Given the description of an element on the screen output the (x, y) to click on. 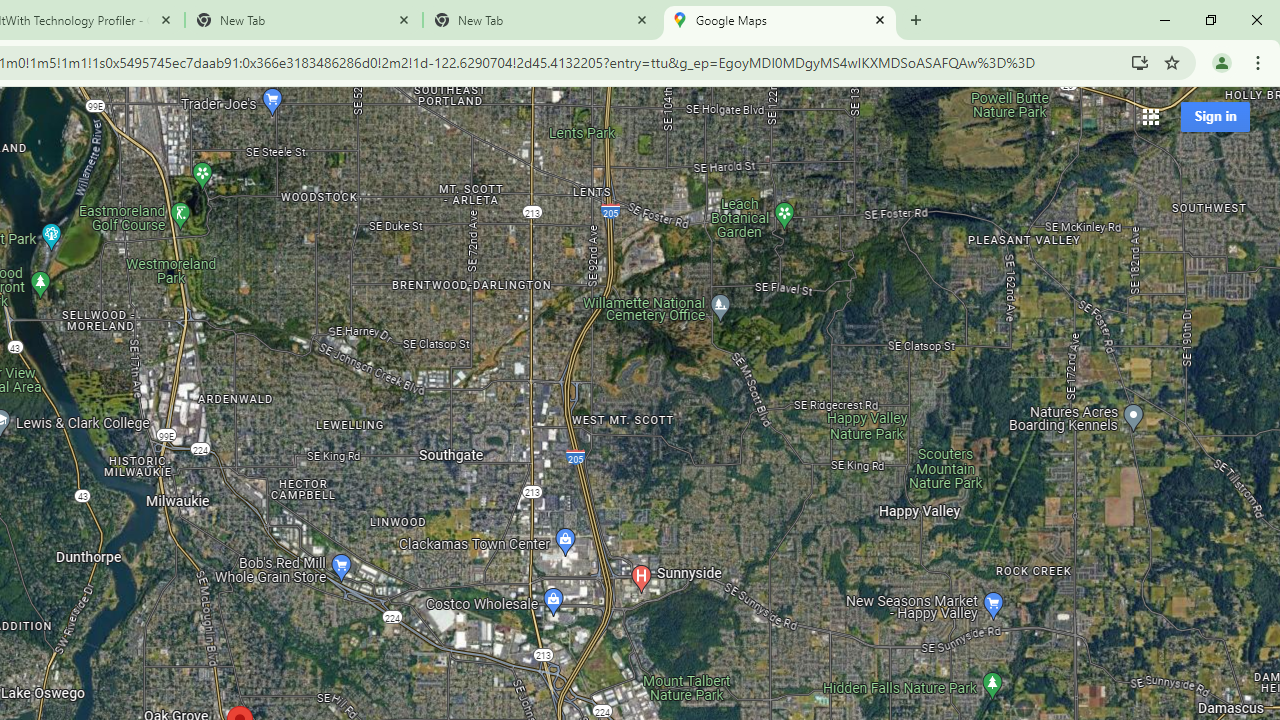
Google Maps (779, 20)
Install Google Maps (1139, 62)
New Tab (541, 20)
